Given the description of an element on the screen output the (x, y) to click on. 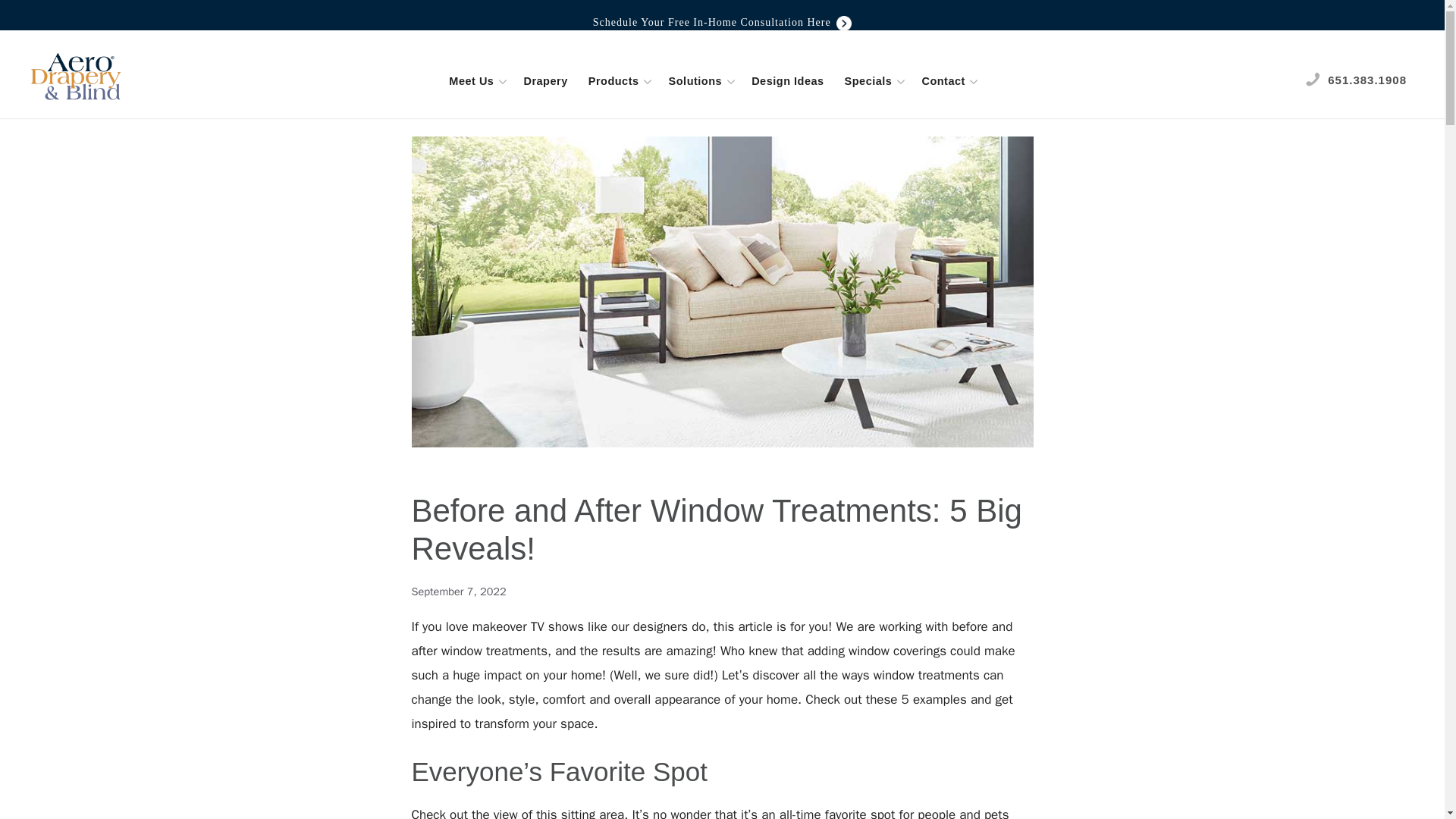
Products (619, 81)
Meet Us (477, 81)
Drapery (546, 81)
Schedule Your Free In-Home Consultation Here (721, 21)
